Given the description of an element on the screen output the (x, y) to click on. 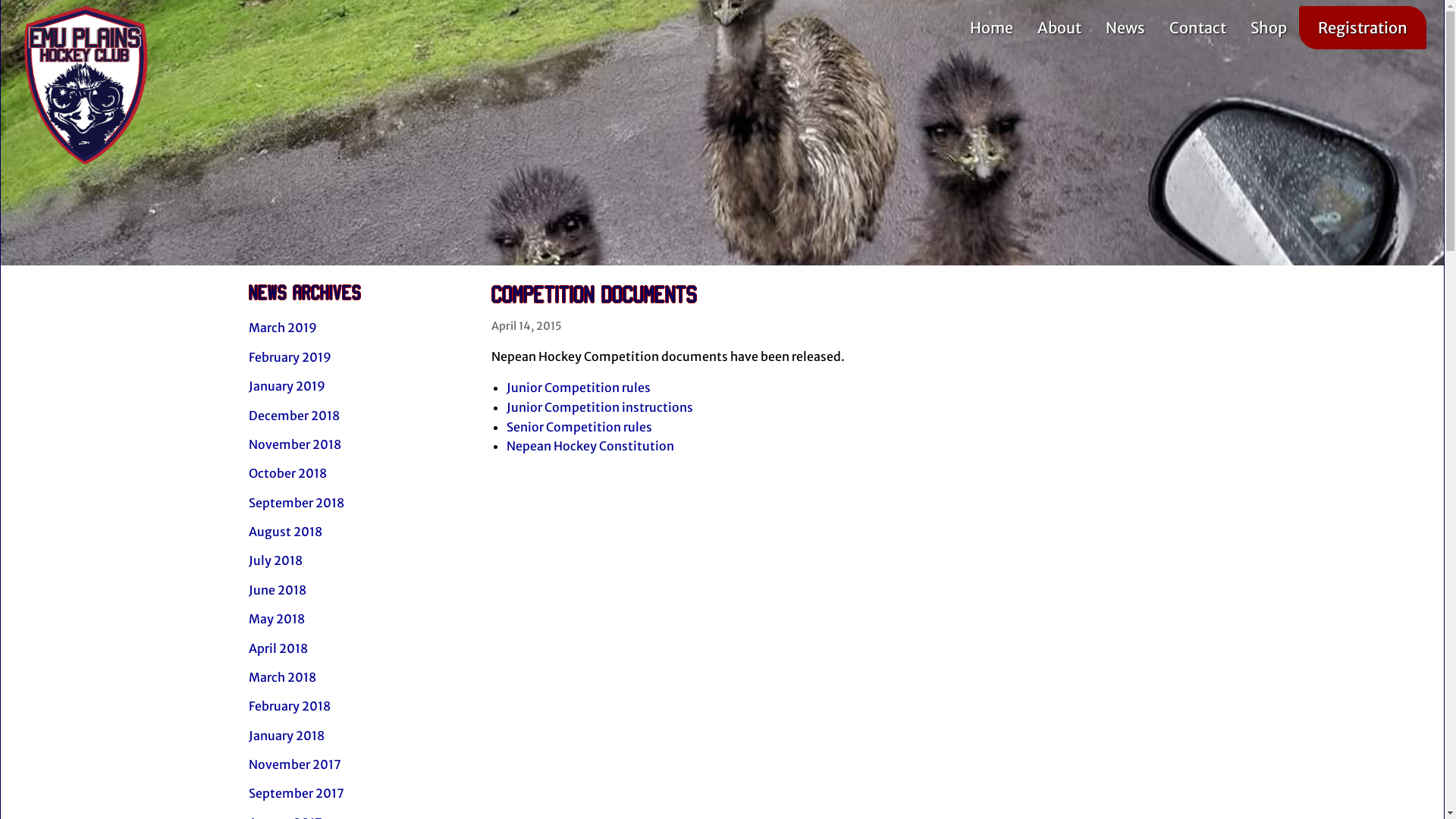
January 2019 Element type: text (358, 385)
Junior Competition rules Element type: text (578, 387)
Home Element type: text (991, 27)
News Element type: text (1125, 27)
November 2018 Element type: text (358, 443)
September 2018 Element type: text (358, 501)
February 2019 Element type: text (358, 356)
January 2018 Element type: text (358, 734)
March 2018 Element type: text (358, 676)
June 2018 Element type: text (358, 589)
Senior Competition rules Element type: text (579, 426)
Shop Element type: text (1268, 27)
August 2018 Element type: text (358, 531)
May 2018 Element type: text (358, 618)
Nepean Hockey Constitution Element type: text (590, 445)
Contact Element type: text (1197, 27)
February 2018 Element type: text (358, 705)
September 2017 Element type: text (358, 792)
Junior Competition instructions Element type: text (599, 406)
Registration Element type: text (1362, 27)
April 2018 Element type: text (358, 647)
October 2018 Element type: text (358, 472)
July 2018 Element type: text (358, 560)
About Element type: text (1059, 27)
November 2017 Element type: text (358, 763)
March 2019 Element type: text (358, 327)
December 2018 Element type: text (358, 414)
